Given the description of an element on the screen output the (x, y) to click on. 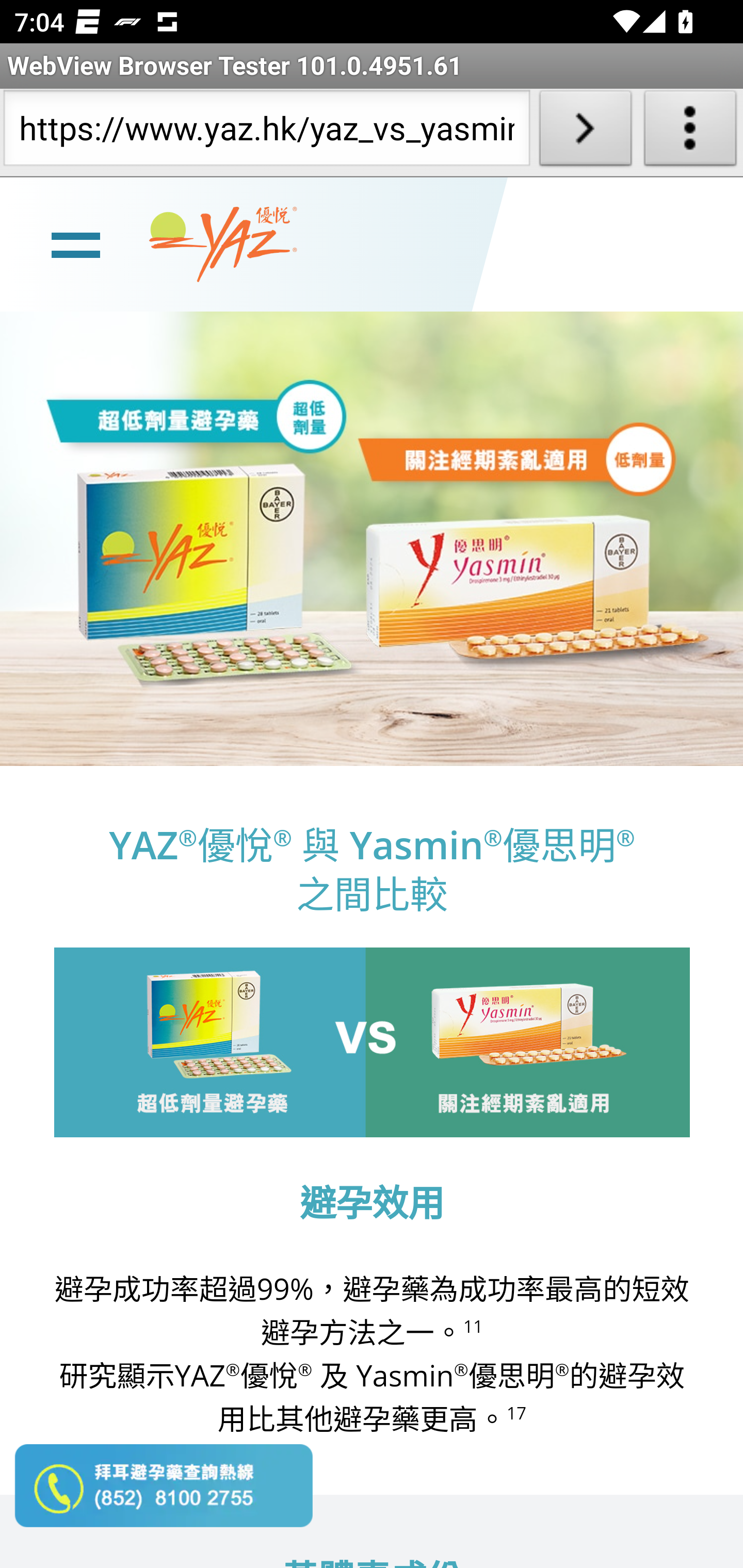
Load URL (585, 132)
About WebView (690, 132)
www.yaz (222, 244)
line Toggle burger menu (75, 242)
